Given the description of an element on the screen output the (x, y) to click on. 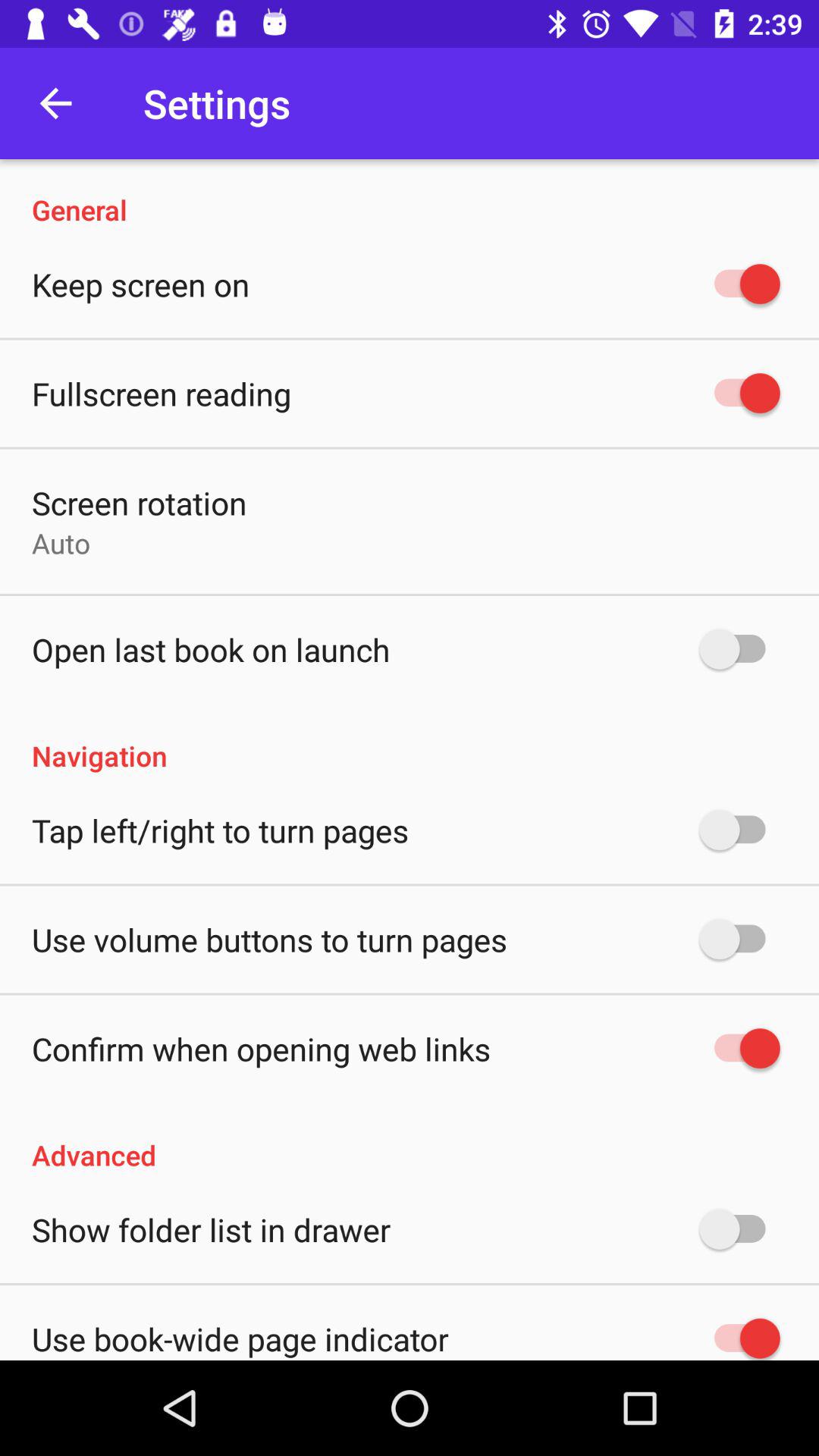
turn off the item at the center (409, 739)
